Given the description of an element on the screen output the (x, y) to click on. 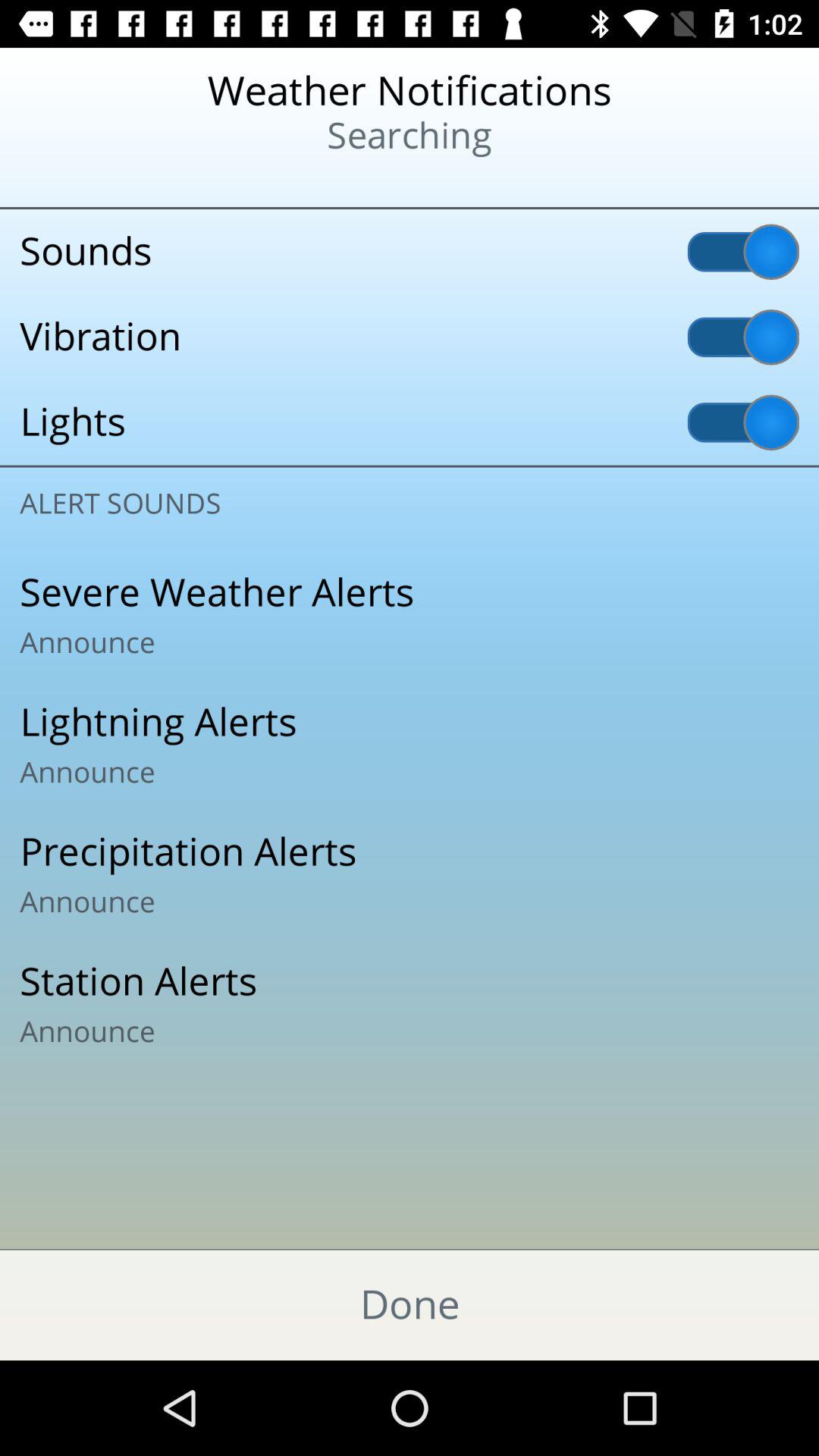
select the done icon (409, 1305)
